Given the description of an element on the screen output the (x, y) to click on. 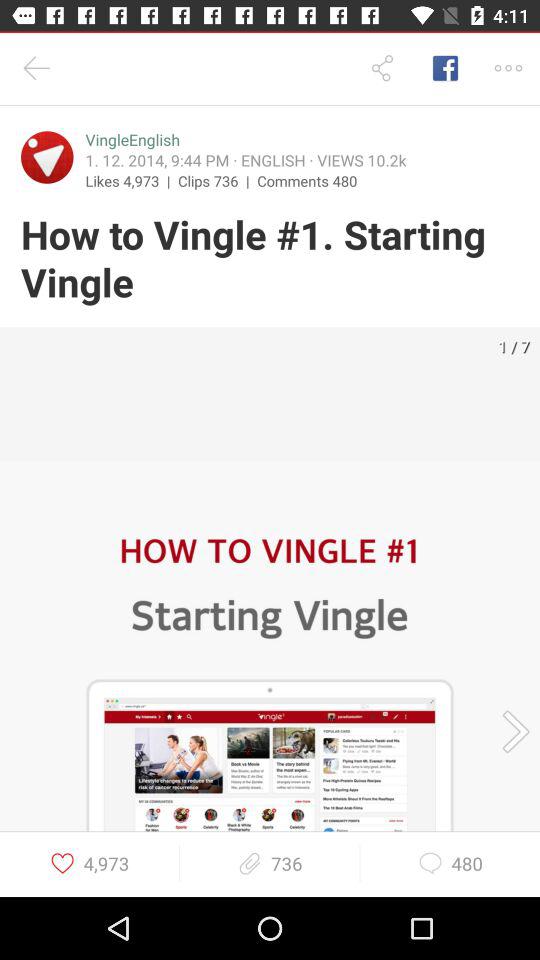
turn off the item next to vingleenglish (47, 157)
